Given the description of an element on the screen output the (x, y) to click on. 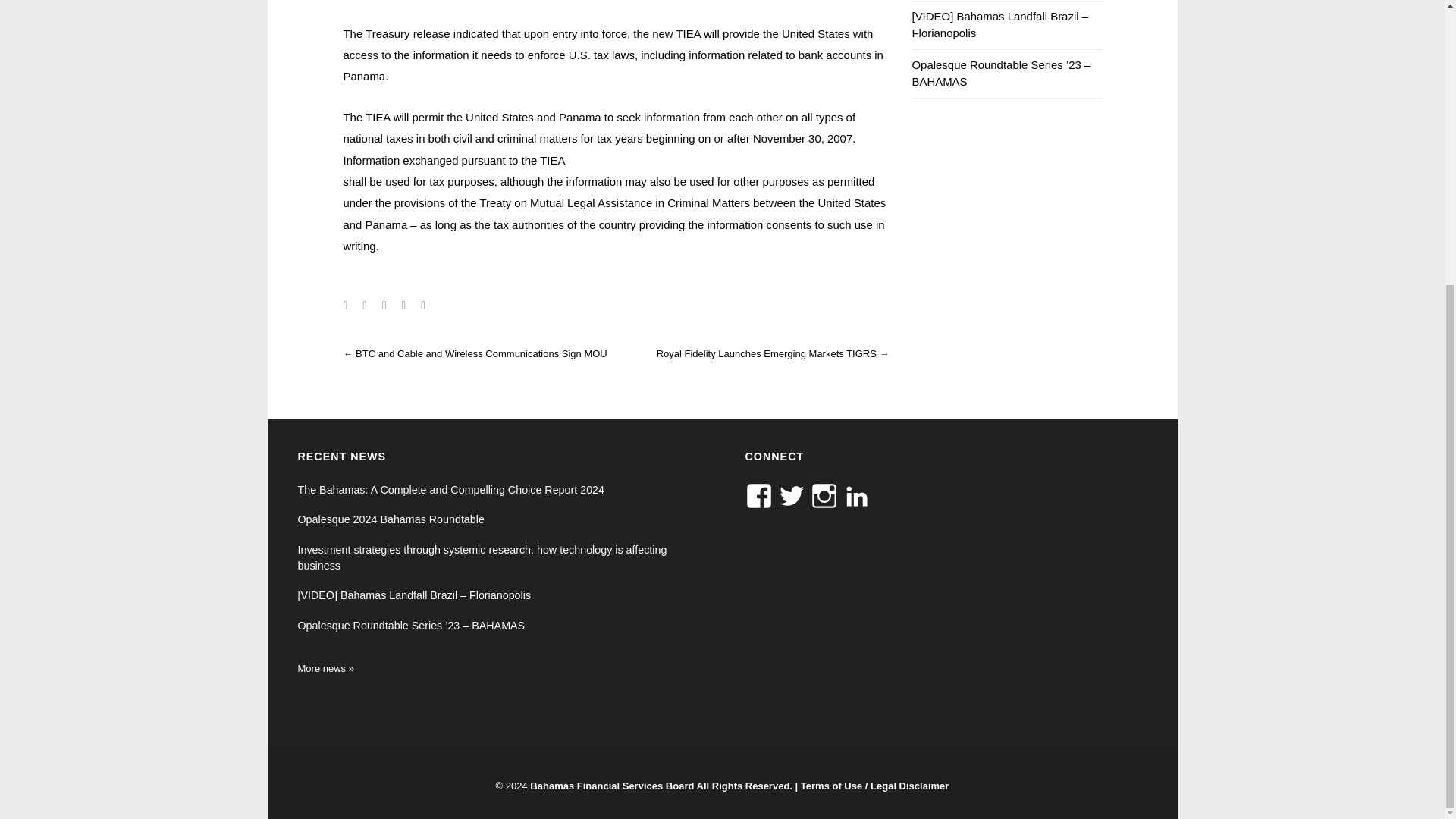
Share on Twitter (364, 305)
Share on Facebook (344, 305)
Share on Pinterest (422, 305)
